Given the description of an element on the screen output the (x, y) to click on. 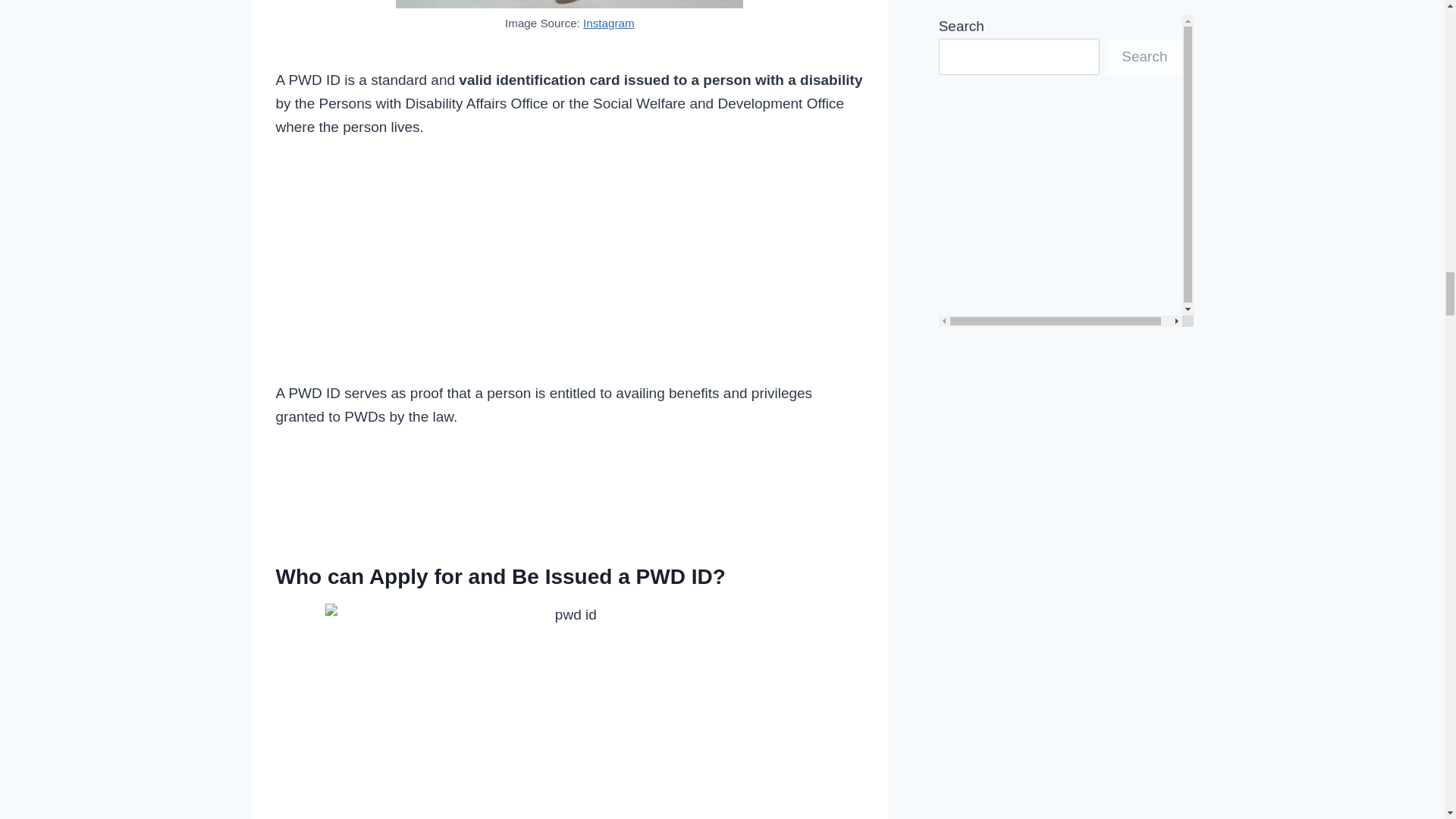
Instagram (608, 22)
